Given the description of an element on the screen output the (x, y) to click on. 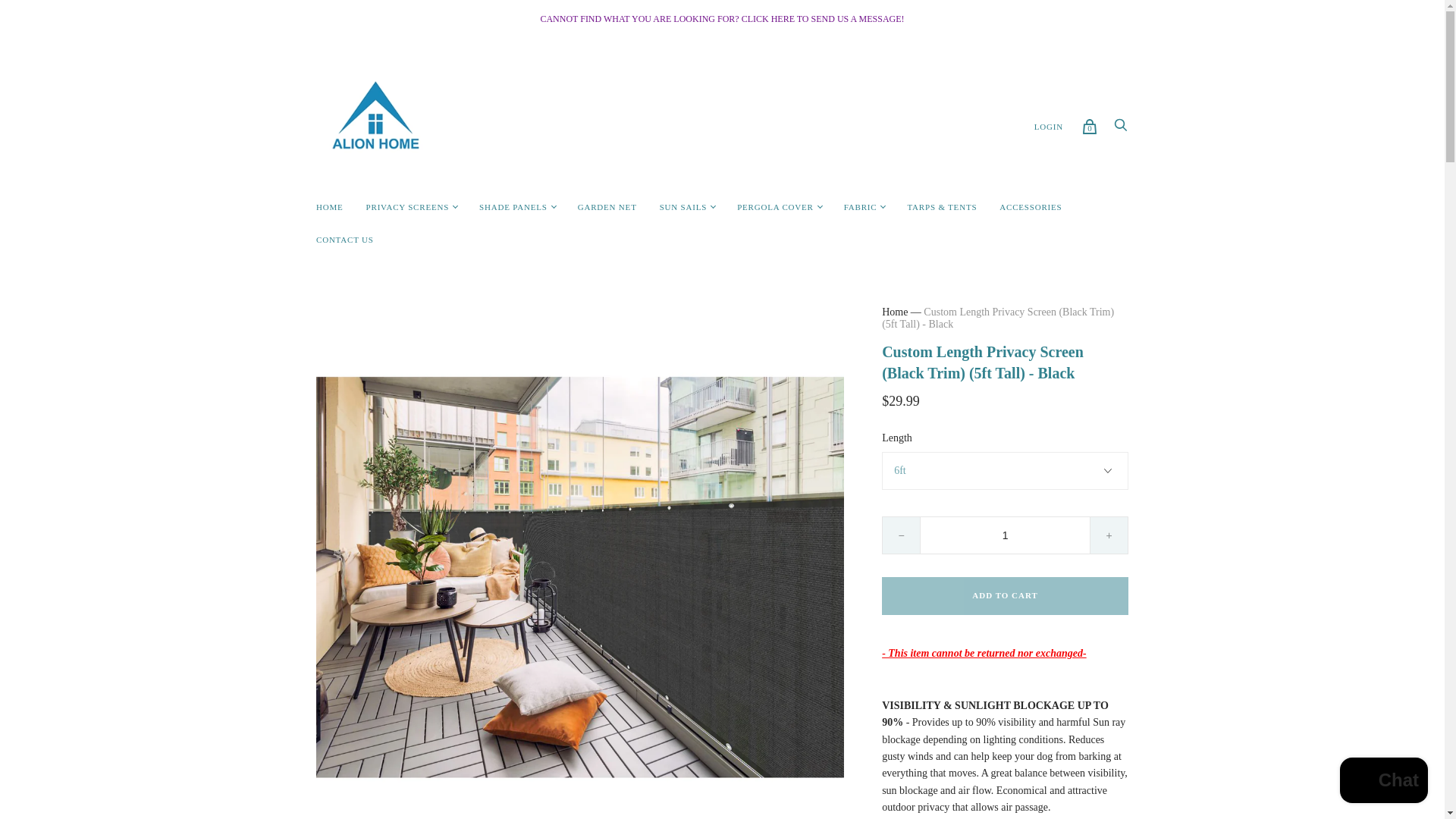
SUN SAILS (683, 206)
HOME (329, 206)
SHADE PANELS (513, 206)
GARDEN NET (606, 206)
Shopify online store chat (1383, 781)
1 (1005, 535)
FABRIC (860, 206)
PRIVACY SCREENS (408, 206)
PERGOLA COVER (775, 206)
Home (894, 311)
